Given the description of an element on the screen output the (x, y) to click on. 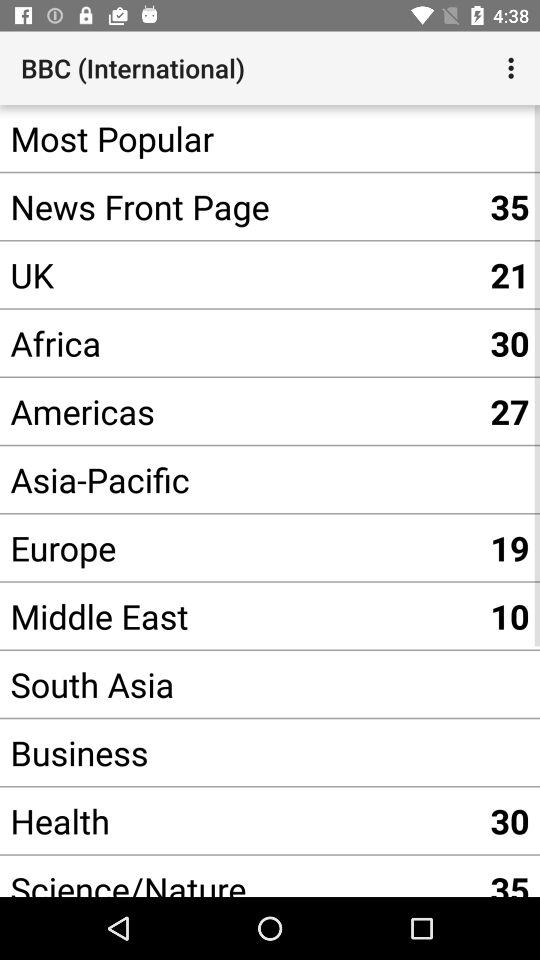
press the icon above the 10 app (240, 547)
